Given the description of an element on the screen output the (x, y) to click on. 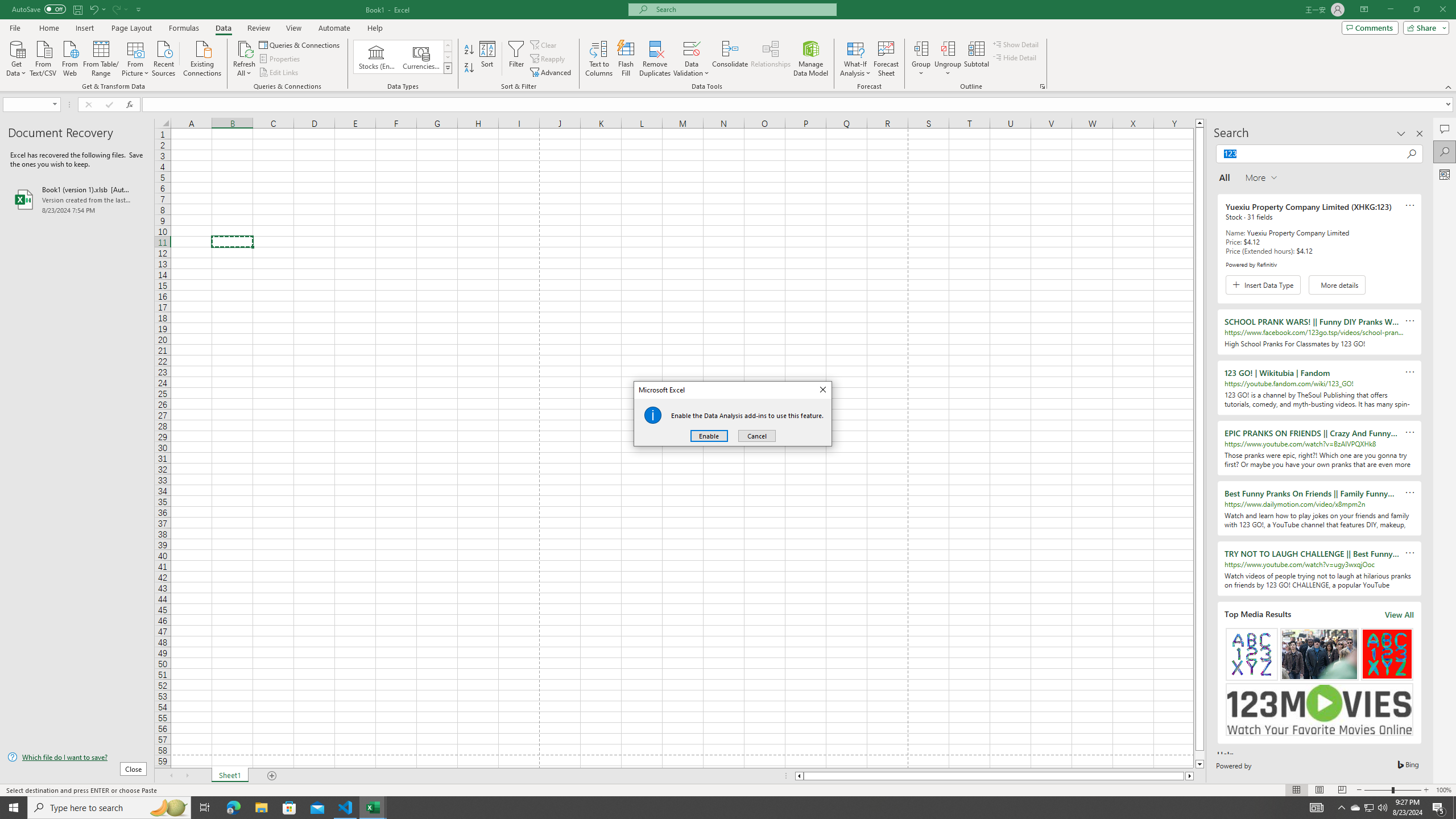
Action Center, 5 new notifications (1439, 807)
Excel - 2 running windows (373, 807)
